Given the description of an element on the screen output the (x, y) to click on. 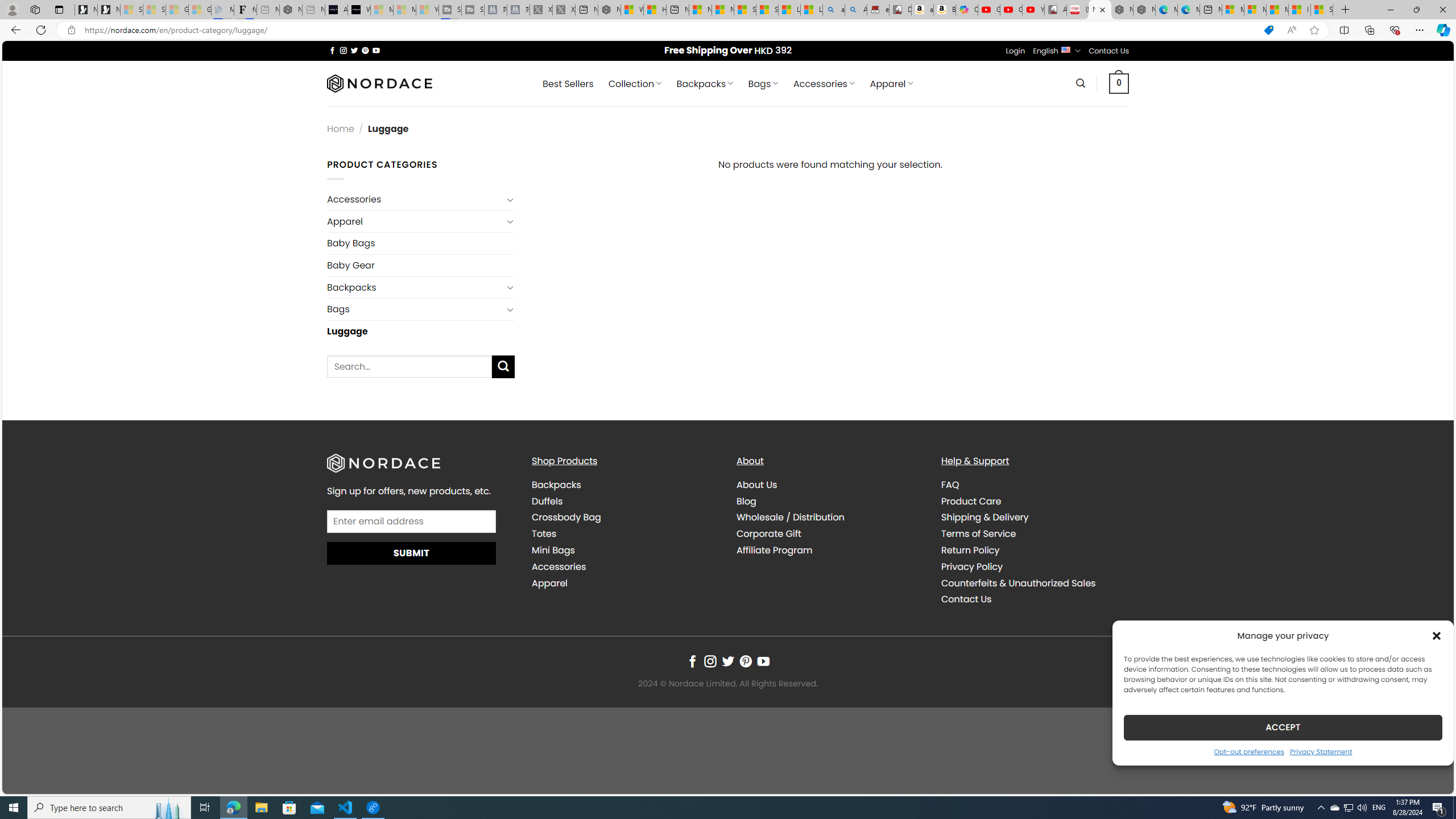
AutomationID: field_4_1 (411, 522)
Affiliate Program (774, 550)
Blog (746, 500)
Totes (543, 533)
  Best Sellers (568, 83)
Submit (411, 553)
Affiliate Program (830, 549)
Login (1015, 50)
Huge shark washes ashore at New York City beach | Watch (655, 9)
